Given the description of an element on the screen output the (x, y) to click on. 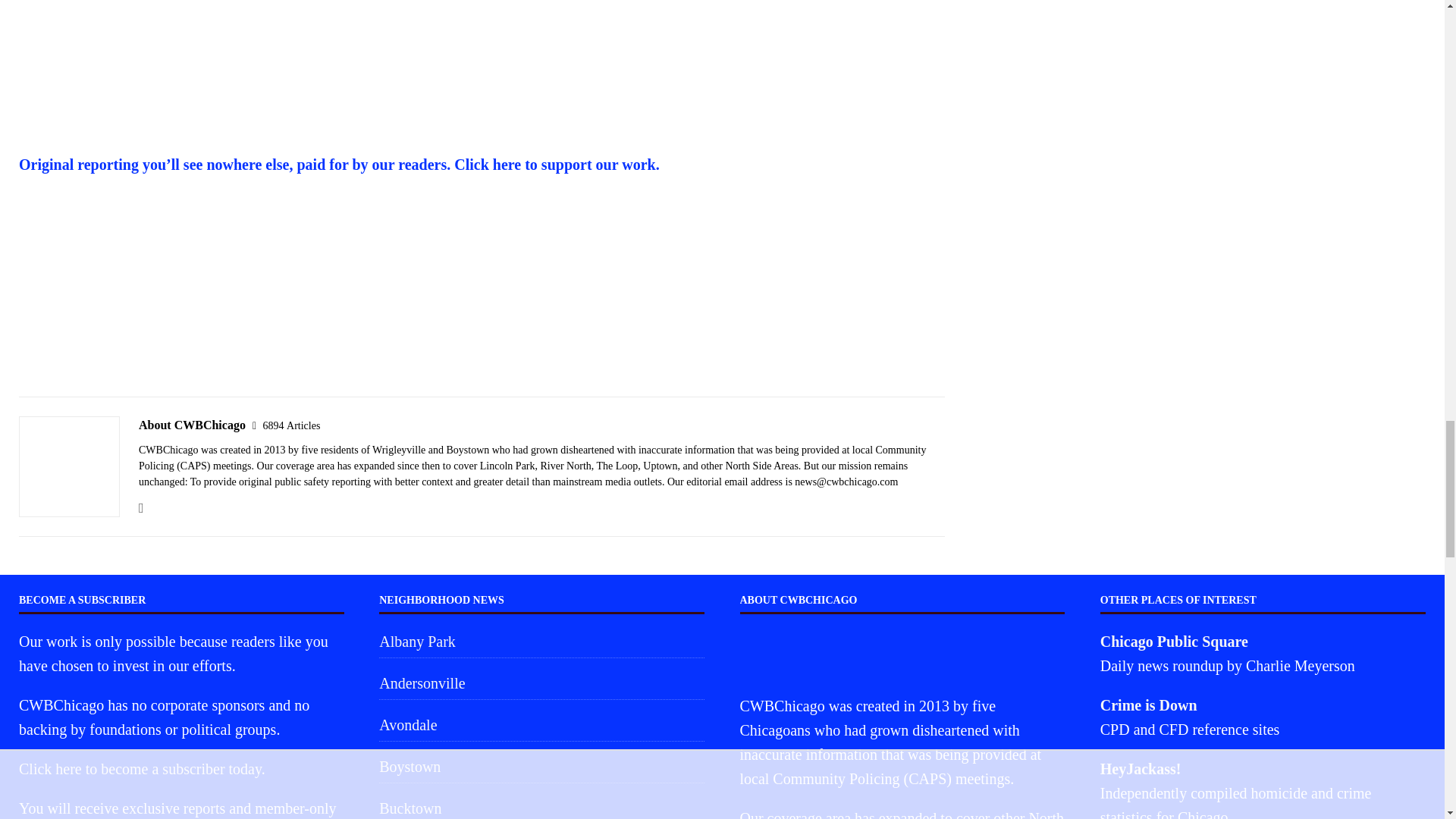
Avondale (541, 725)
More articles written by CWBChicago' (291, 425)
Click here to become a subscriber today. (141, 768)
Albany Park (541, 643)
Andersonville (541, 683)
Bucktown (541, 805)
Boystown (541, 766)
Click here to support our work. (556, 164)
6894 Articles (291, 425)
